Given the description of an element on the screen output the (x, y) to click on. 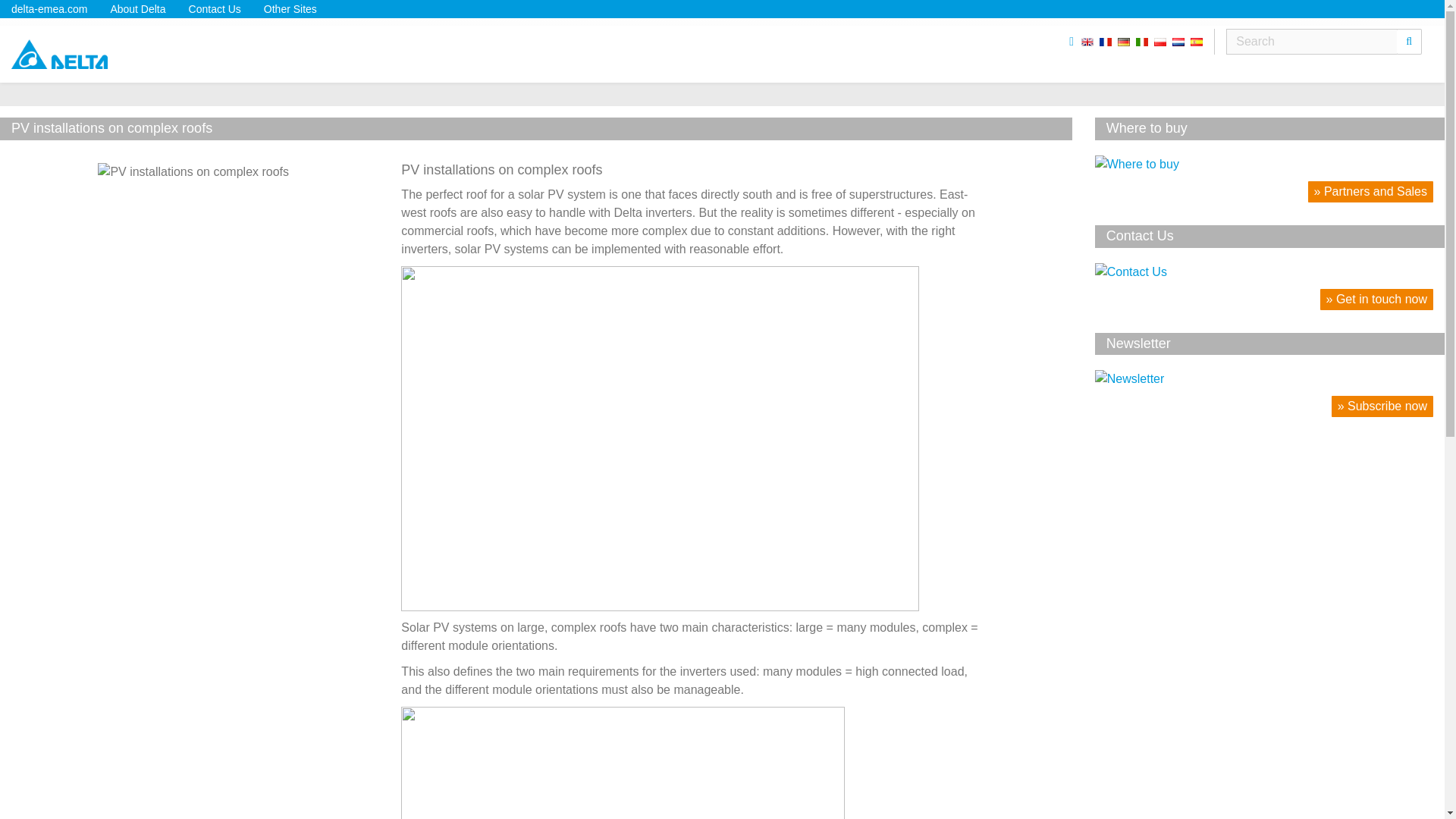
Other Sites (290, 9)
DELTA EMEA Partner Portal (59, 46)
Change language (1141, 41)
Contact Us (214, 9)
Where to buy (1263, 164)
Newsletter (1263, 379)
About Delta (137, 9)
PV installations on complex roofs (237, 171)
delta-emea.com (49, 9)
Contact Us (1263, 271)
